Given the description of an element on the screen output the (x, y) to click on. 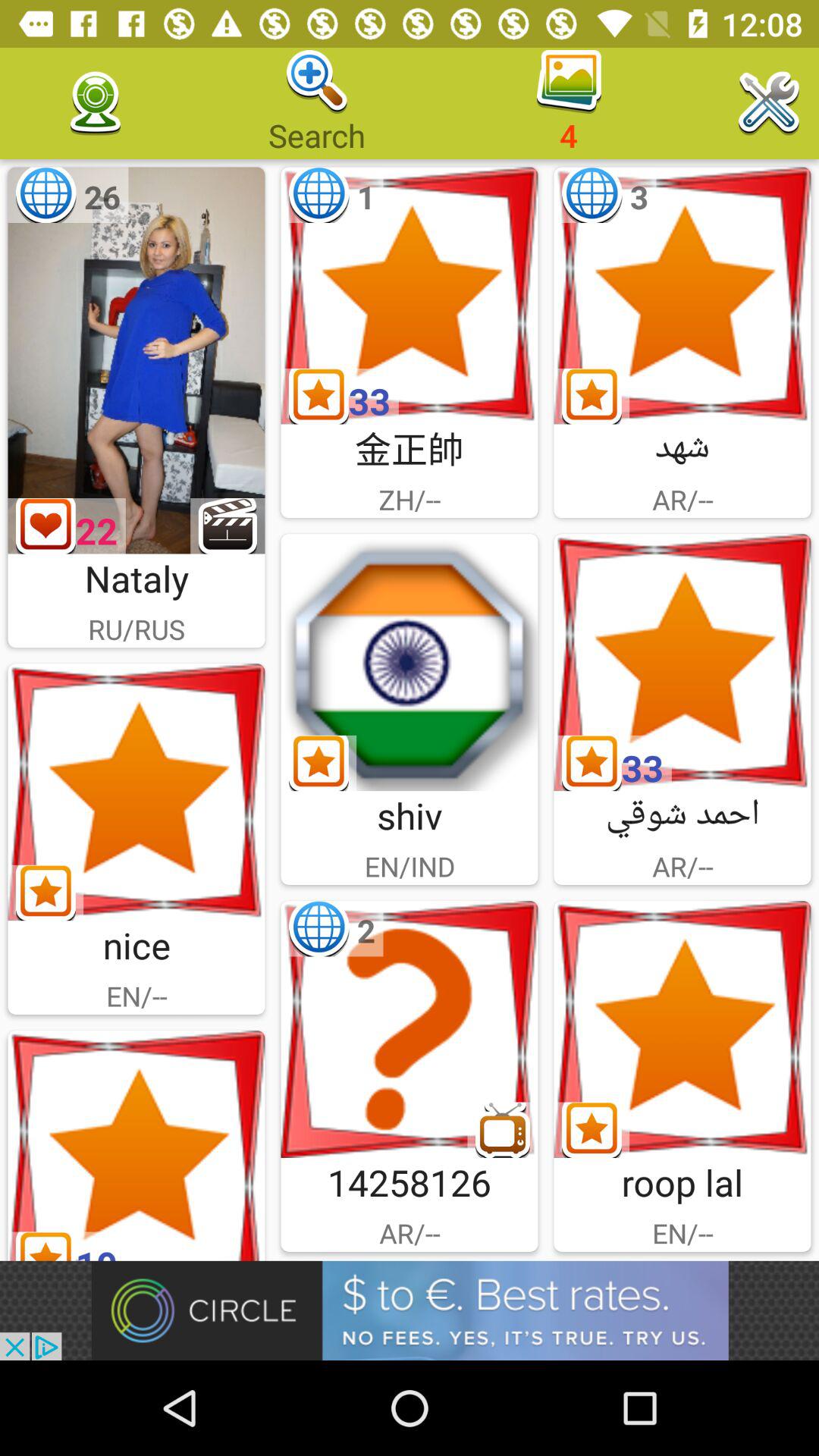
help option (409, 1028)
